Given the description of an element on the screen output the (x, y) to click on. 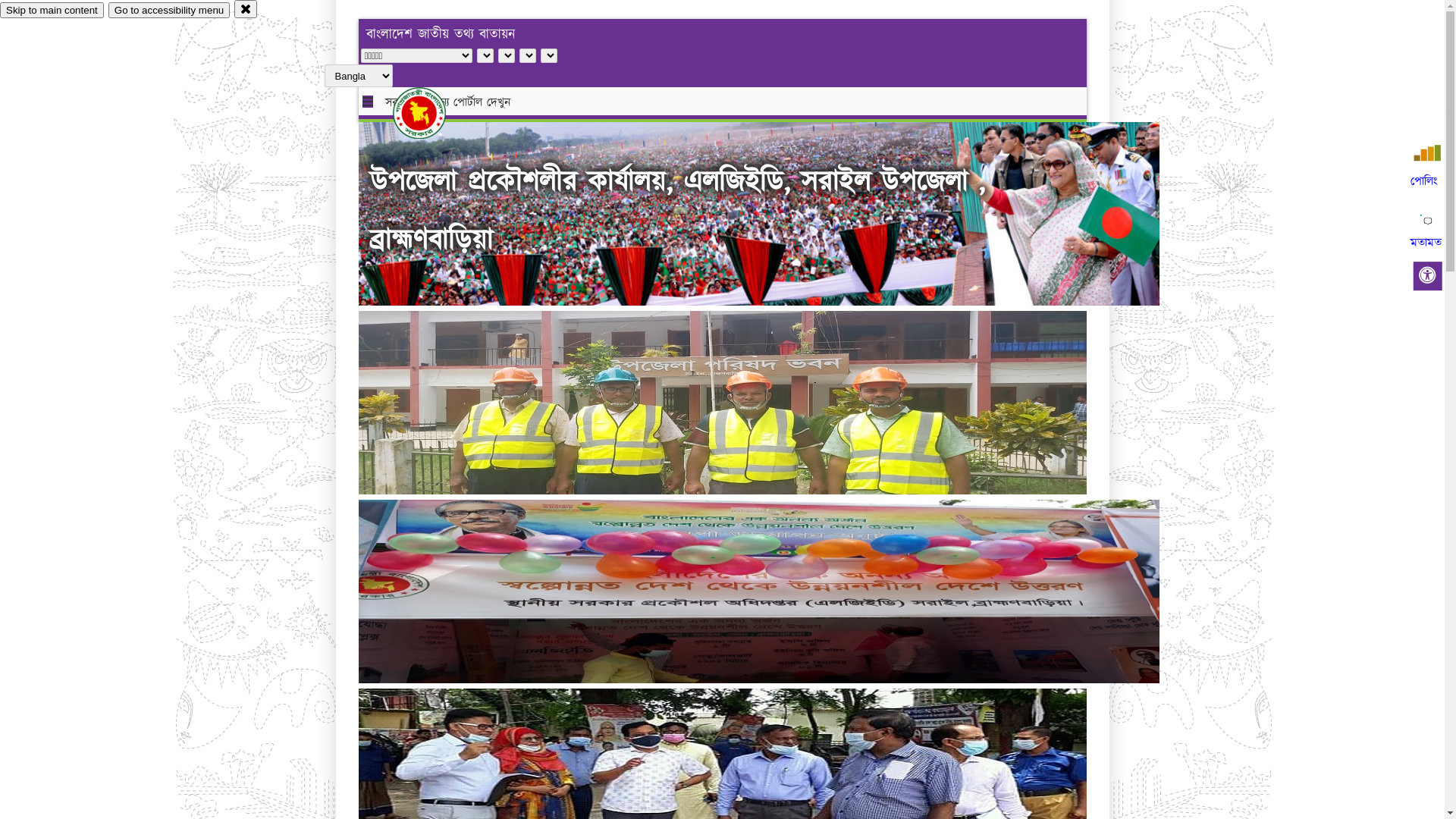
Go to accessibility menu Element type: text (168, 10)
close Element type: hover (245, 9)
Skip to main content Element type: text (51, 10)

                
             Element type: hover (431, 112)
